Given the description of an element on the screen output the (x, y) to click on. 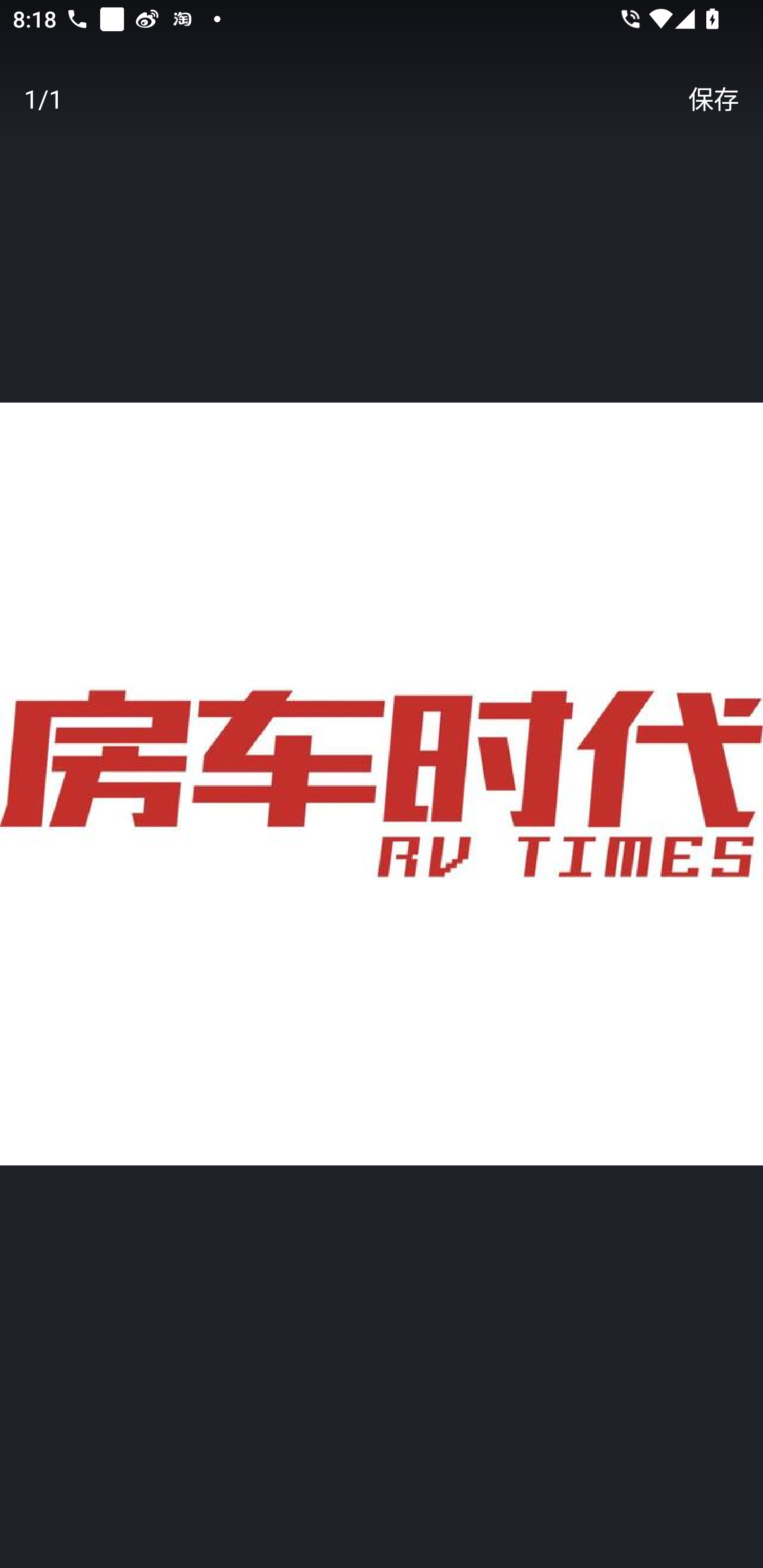
保存 (713, 98)
